Given the description of an element on the screen output the (x, y) to click on. 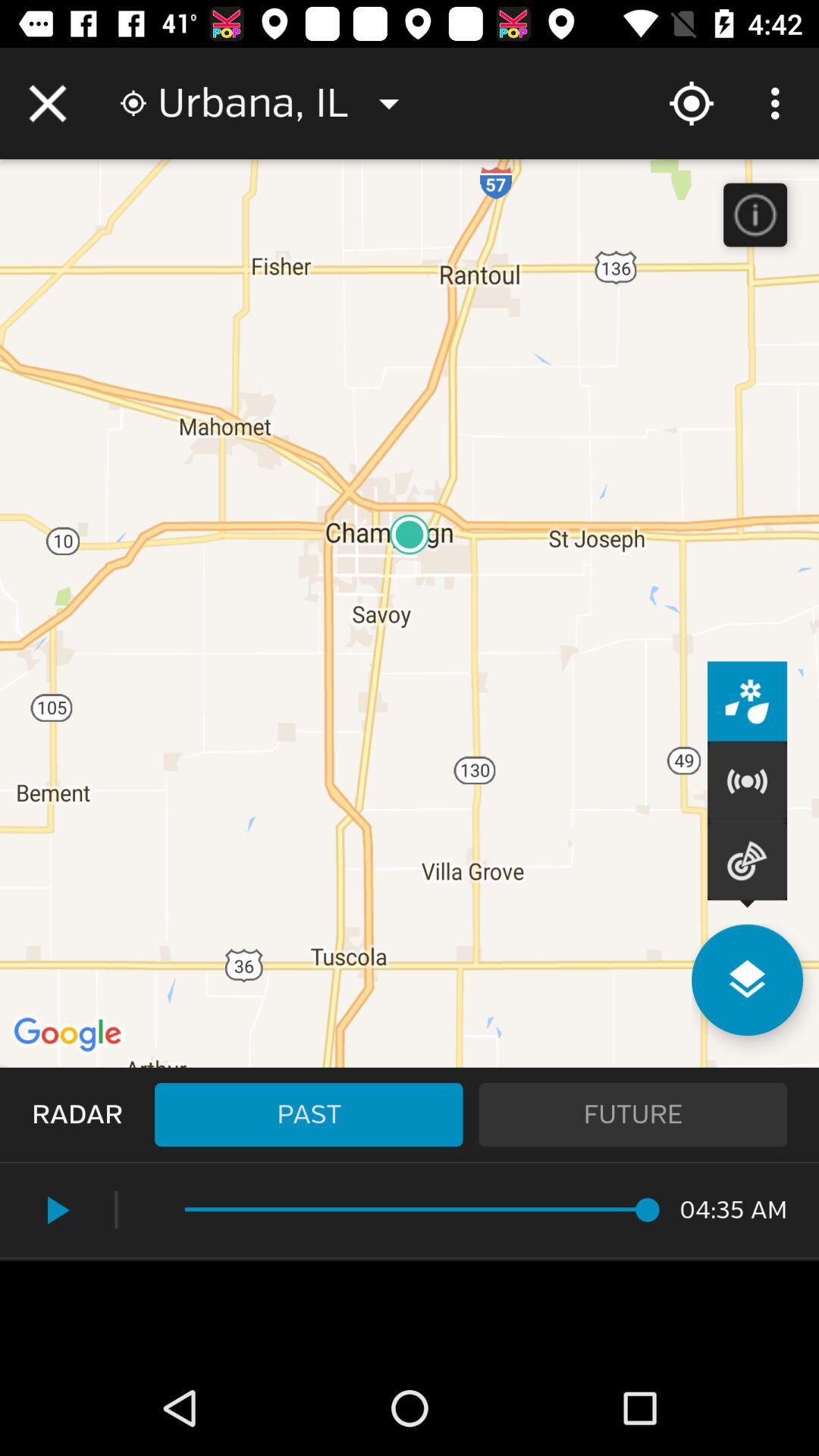
select icon to the right of radar item (308, 1114)
